Given the description of an element on the screen output the (x, y) to click on. 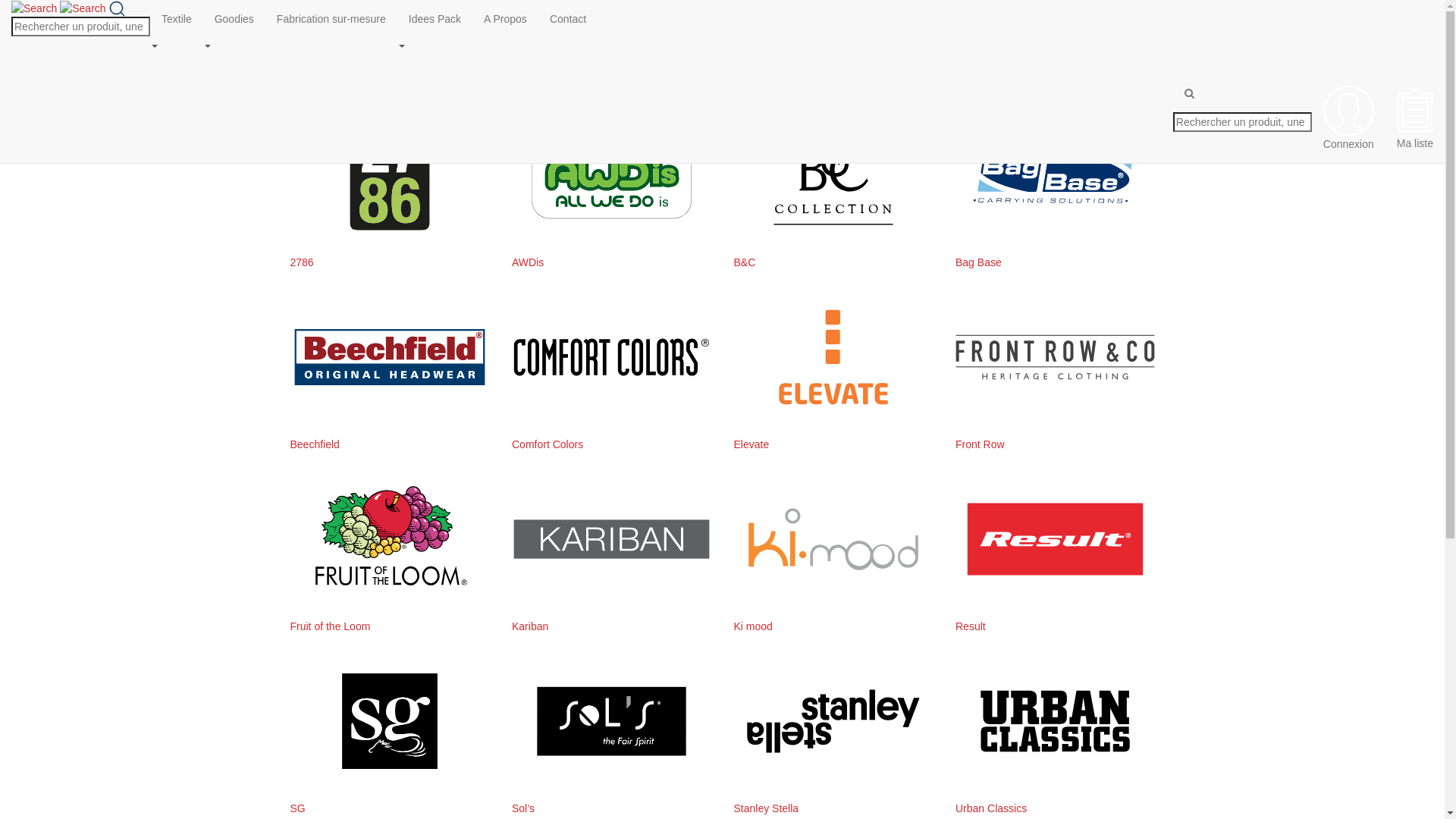
B&C Element type: text (745, 262)
Bag Base Element type: text (978, 262)
Textile Element type: text (176, 18)
2786 Element type: text (301, 262)
Front Row Element type: text (979, 444)
Idees Pack Element type: text (434, 18)
Kariban Element type: text (529, 626)
Ma liste Element type: text (1414, 118)
Goodies Element type: text (234, 18)
Result Element type: text (970, 626)
Home Element type: text (315, 66)
AWDis Element type: text (527, 262)
A Propos Element type: text (505, 18)
Fabrication sur-mesure Element type: text (331, 18)
Contact Element type: text (567, 18)
Urban Classics Element type: text (990, 808)
Beechfield Element type: text (313, 444)
Ki mood Element type: text (753, 626)
SG Element type: text (296, 808)
Connexion Element type: text (1348, 118)
Fruit of the Loom Element type: text (329, 626)
Elevate Element type: text (751, 444)
Comfort Colors Element type: text (547, 444)
Stanley Stella Element type: text (766, 808)
